Given the description of an element on the screen output the (x, y) to click on. 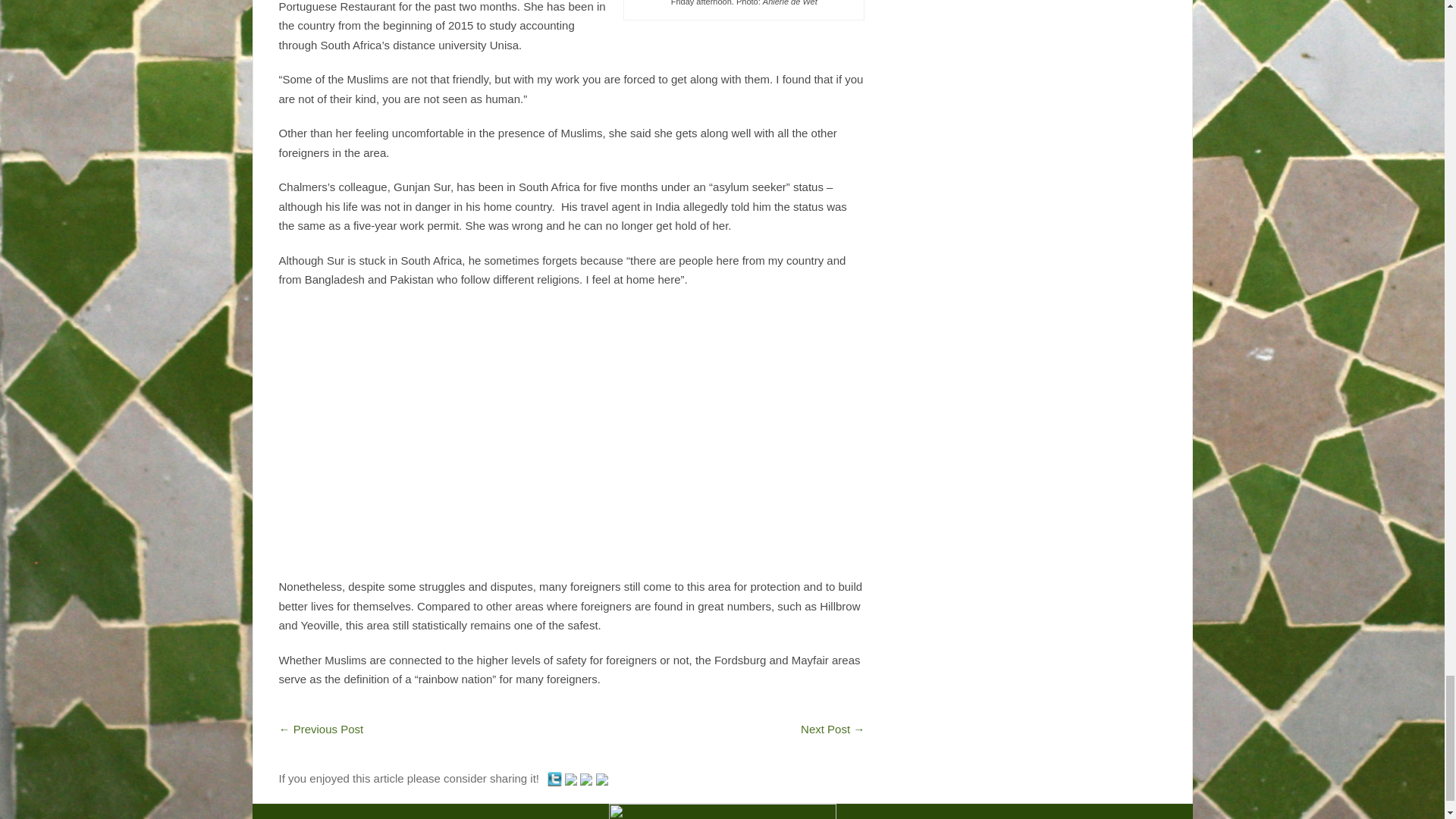
Digg This! (601, 778)
Share on StumbleUpon! (571, 778)
Tweet this! (555, 778)
facebook (585, 779)
Share on Facebook (587, 778)
digg (601, 779)
twitter (554, 779)
upon (570, 779)
